Given the description of an element on the screen output the (x, y) to click on. 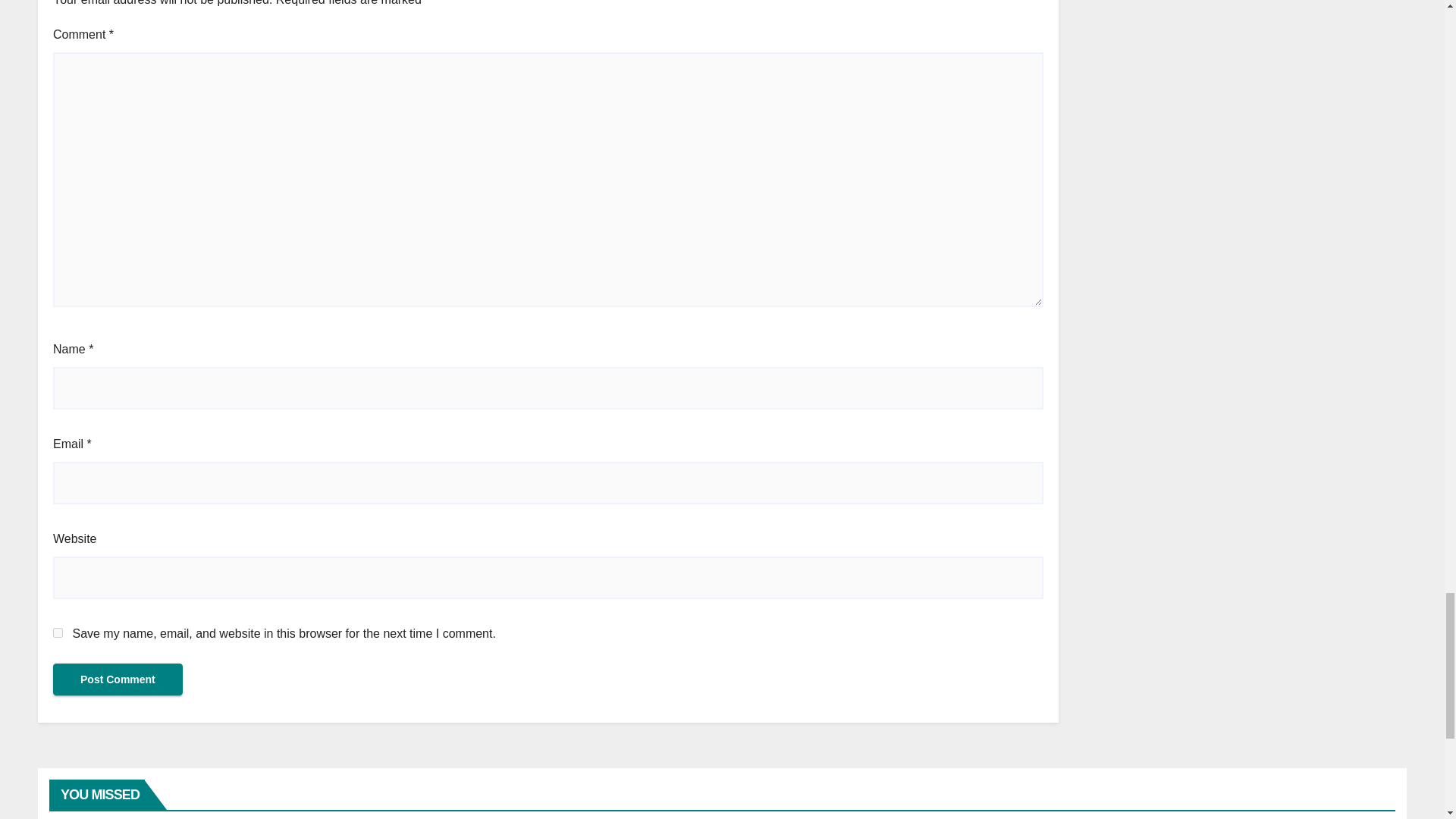
Post Comment (117, 679)
yes (57, 633)
Post Comment (117, 679)
